Given the description of an element on the screen output the (x, y) to click on. 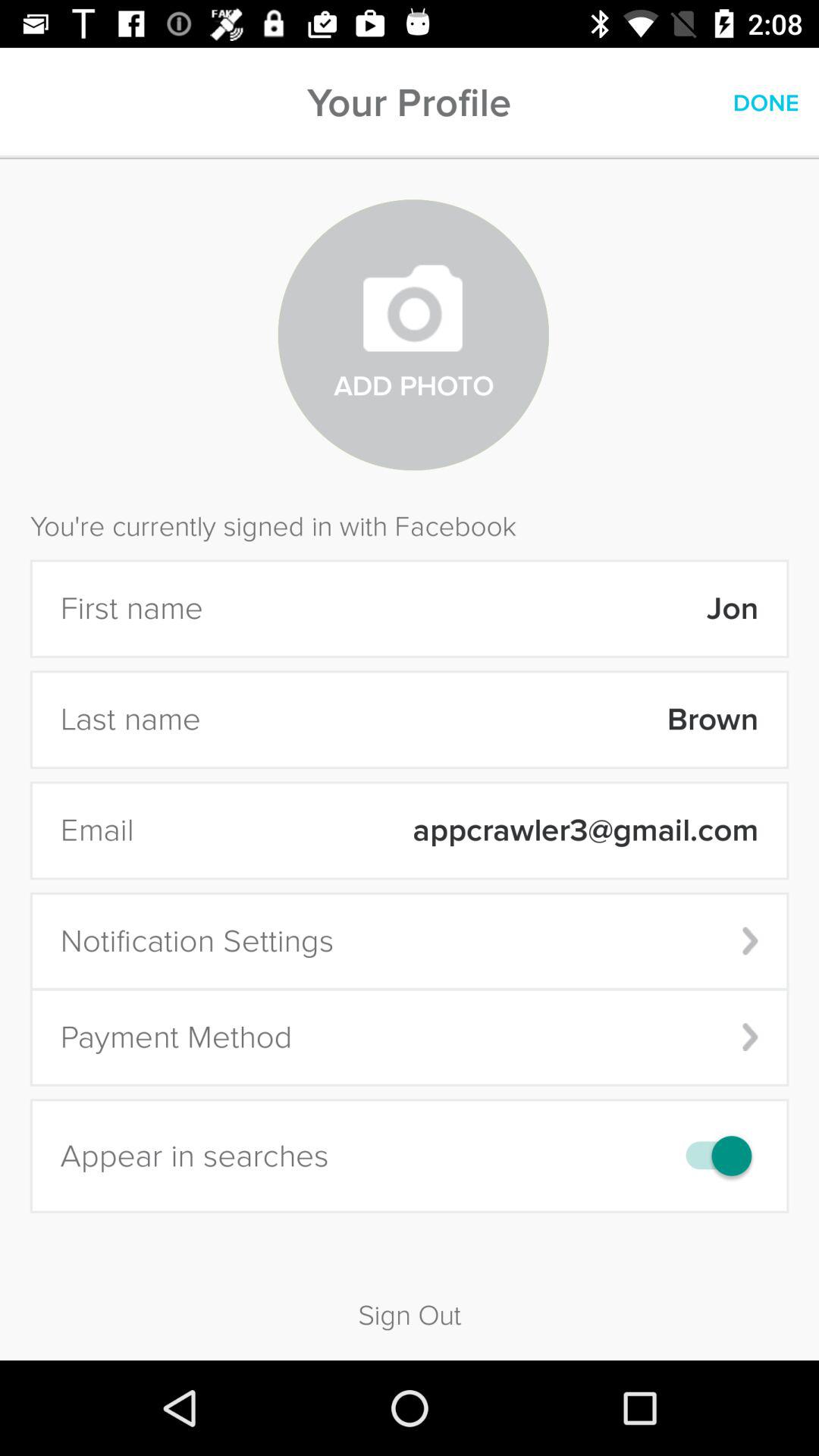
select icon to the right of the email (455, 830)
